Given the description of an element on the screen output the (x, y) to click on. 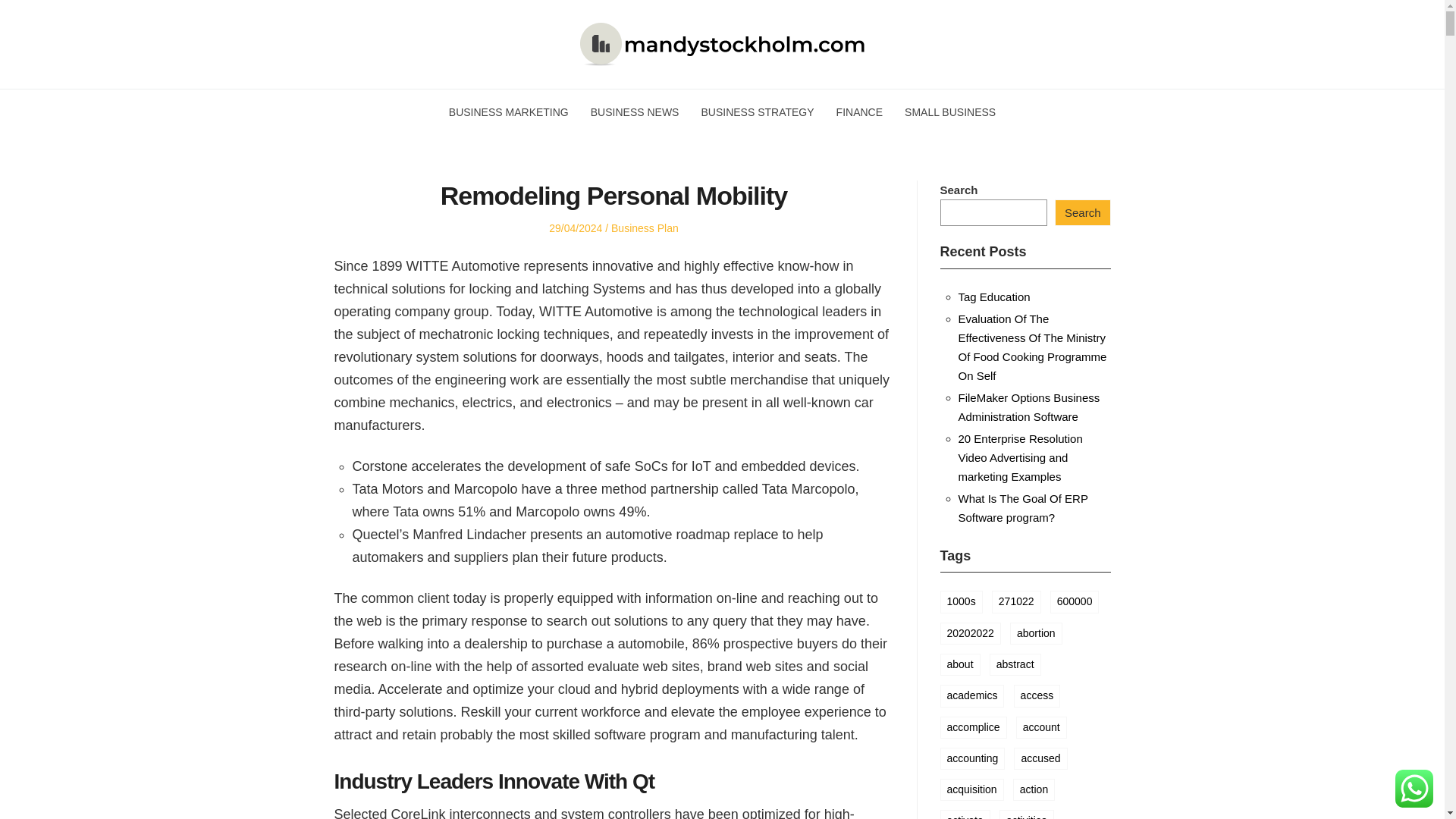
20202022 (970, 633)
activate (965, 814)
Tag Education (994, 296)
accounting (973, 758)
account (1041, 726)
abortion (1036, 633)
Search (1082, 212)
BUSINESS STRATEGY (756, 111)
action (1033, 789)
accused (1040, 758)
about (959, 664)
abstract (1015, 664)
1000s (961, 601)
600000 (1074, 601)
